Given the description of an element on the screen output the (x, y) to click on. 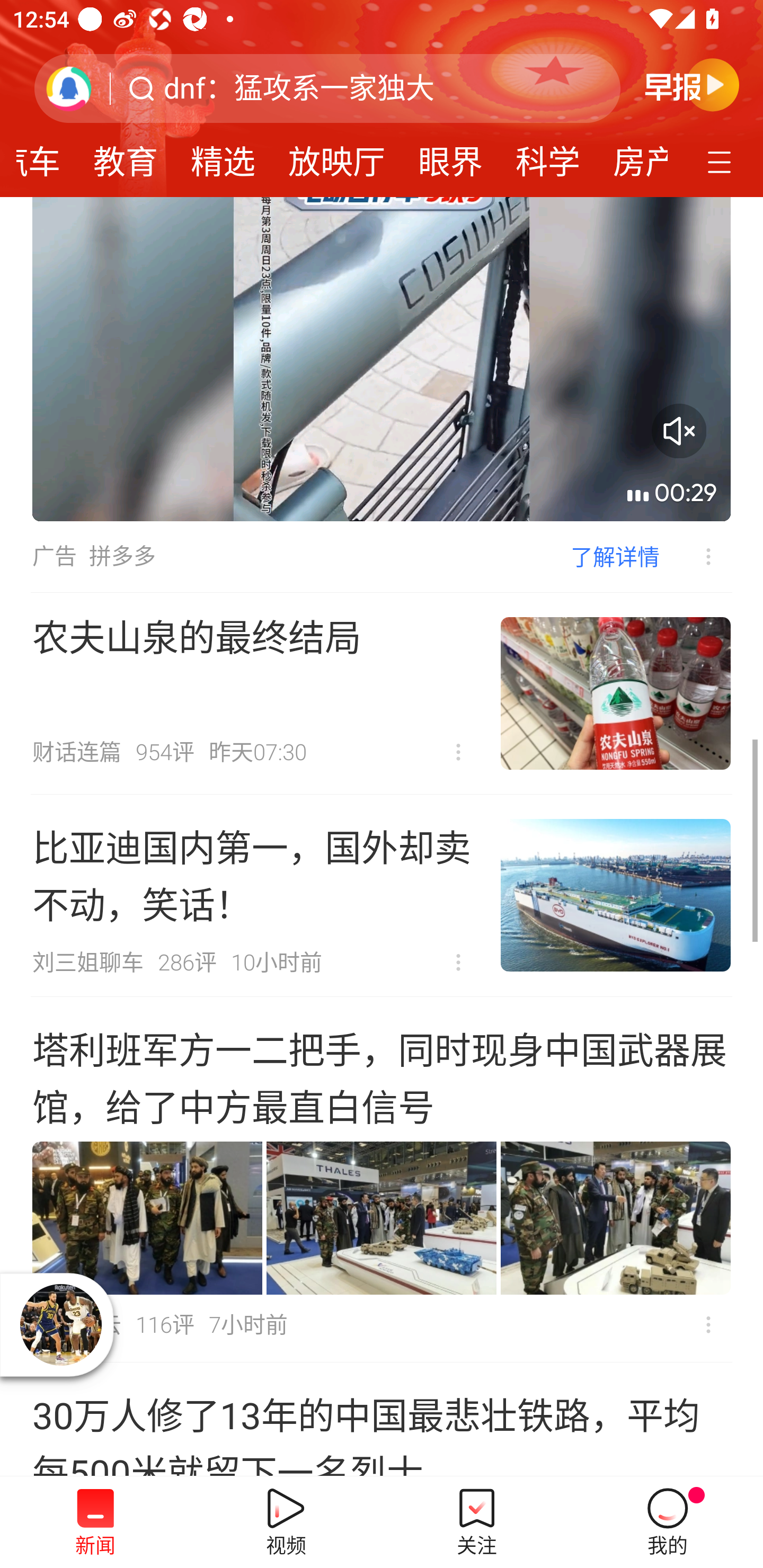
早晚报 (691, 84)
刷新 (68, 88)
dnf：猛攻系一家独大 (299, 88)
教育 (125, 155)
精选 (222, 155)
放映厅 (336, 155)
眼界 (450, 155)
科学 (547, 155)
房产 (631, 155)
 定制频道 (721, 160)
00:29 音量开关 (381, 358)
音量开关 (678, 429)
 不感兴趣 (694, 556)
了解详情 (614, 556)
广告 (54, 556)
拼多多 (122, 556)
农夫山泉的最终结局 财话连篇 954评 昨天07:30  不感兴趣 (381, 692)
 不感兴趣 (458, 752)
比亚迪国内第一，国外却卖不动，笑话！ 刘三姐聊车 286评 10小时前  不感兴趣 (381, 894)
 不感兴趣 (458, 962)
播放器 (60, 1324)
 不感兴趣 (707, 1324)
